Given the description of an element on the screen output the (x, y) to click on. 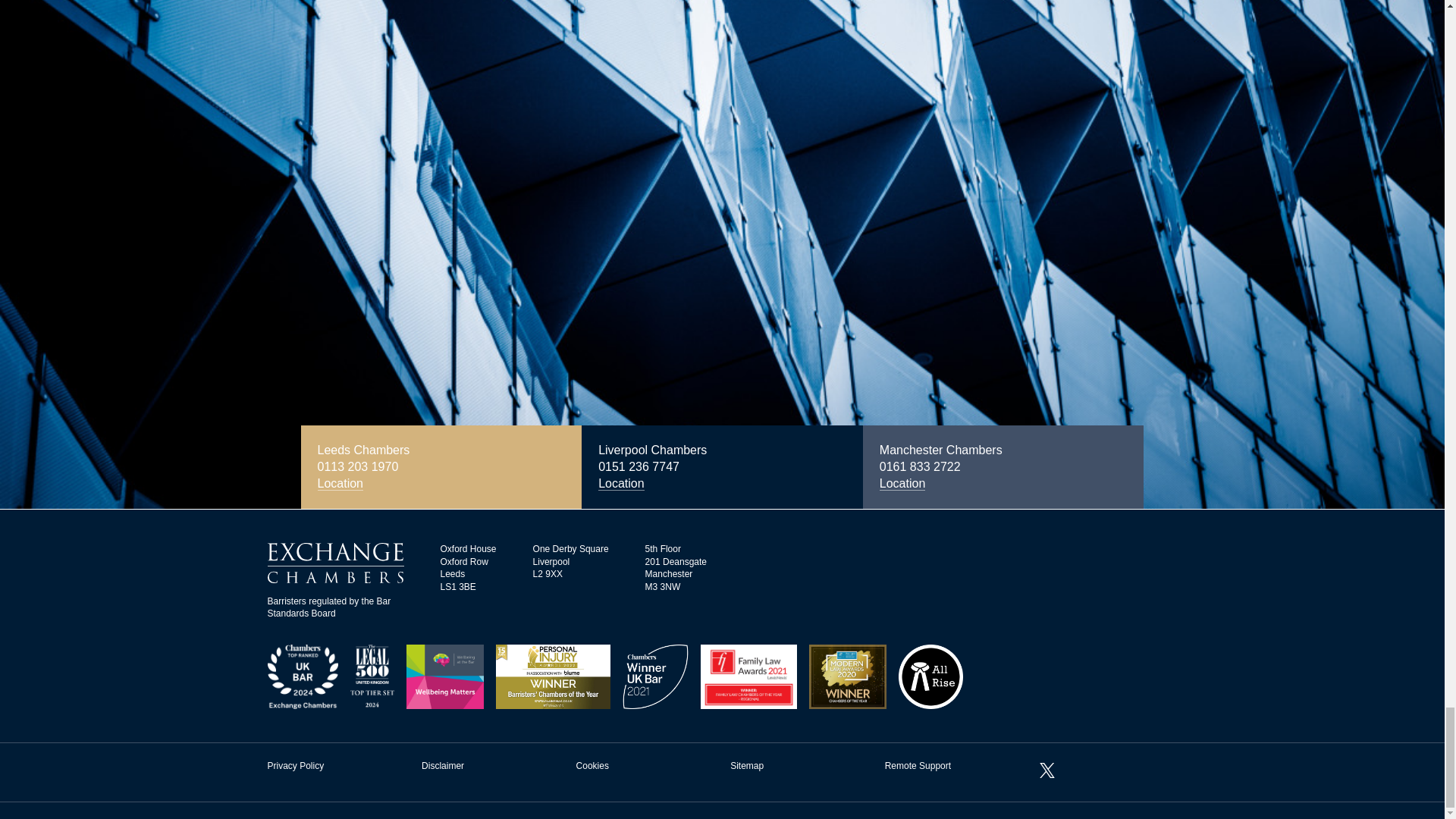
Cookies (592, 765)
Privacy Policy (294, 765)
Sitemap (746, 765)
Remote Support (917, 765)
Disclaimer (443, 765)
